Given the description of an element on the screen output the (x, y) to click on. 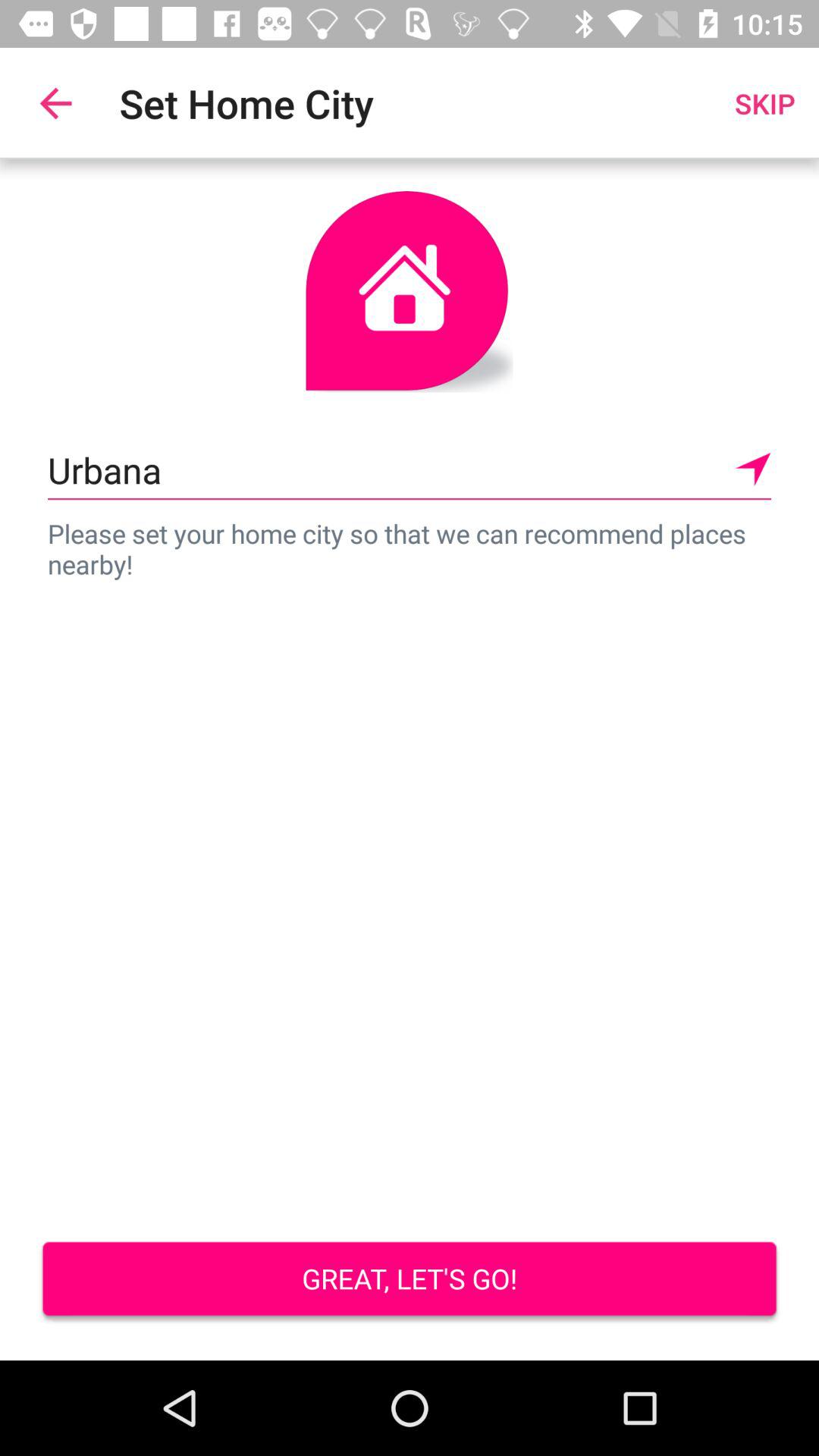
turn on the urbana icon (409, 469)
